Given the description of an element on the screen output the (x, y) to click on. 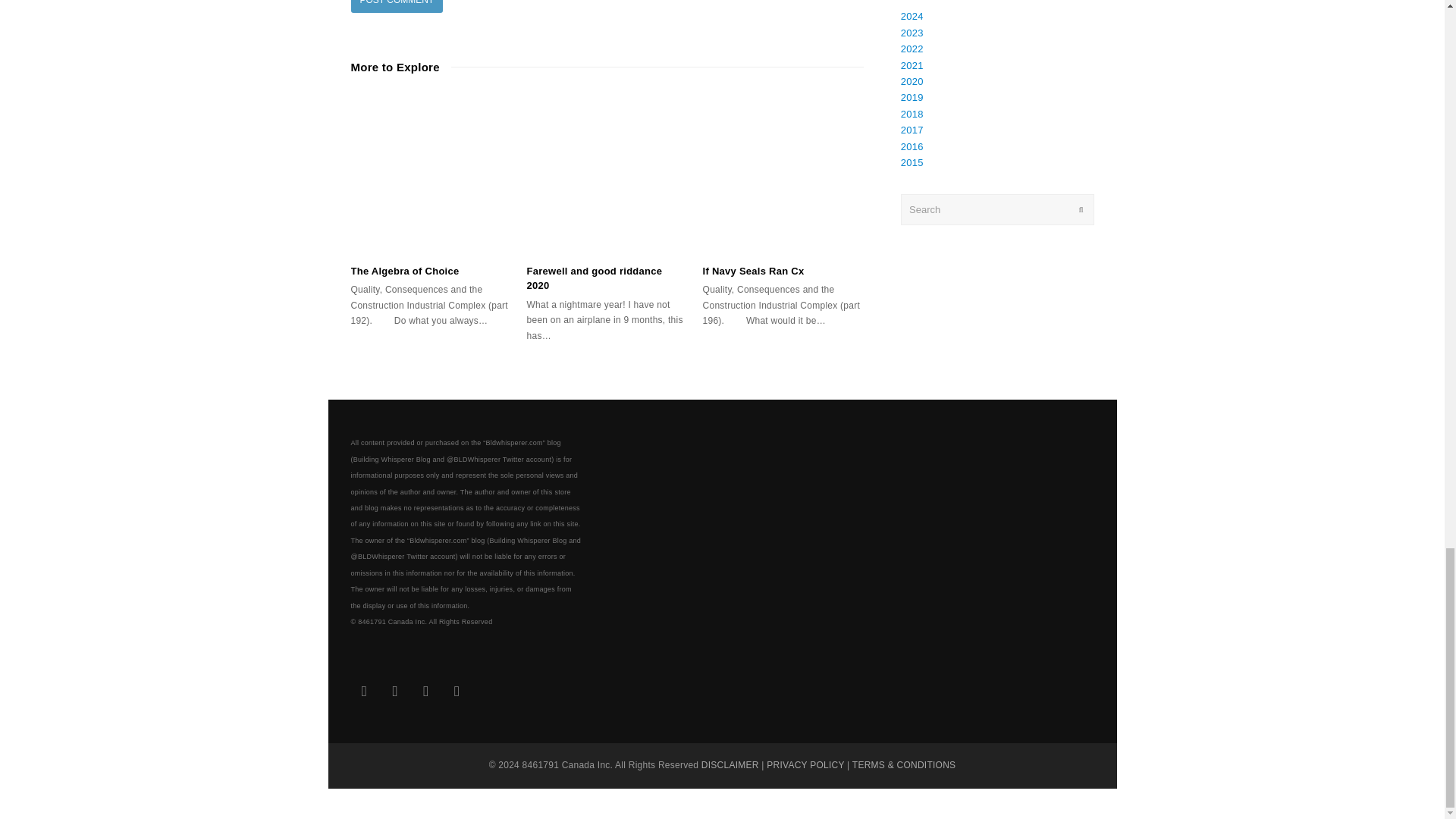
RSS (457, 691)
The Algebra of Choice (430, 172)
Post Comment (396, 6)
LinkedIn (395, 691)
The Algebra of Choice (404, 270)
Farewell and good riddance 2020 (607, 172)
Youtube (425, 691)
If Navy Seals Ran Cx (783, 172)
Post Comment (396, 6)
Twitter (363, 691)
